Given the description of an element on the screen output the (x, y) to click on. 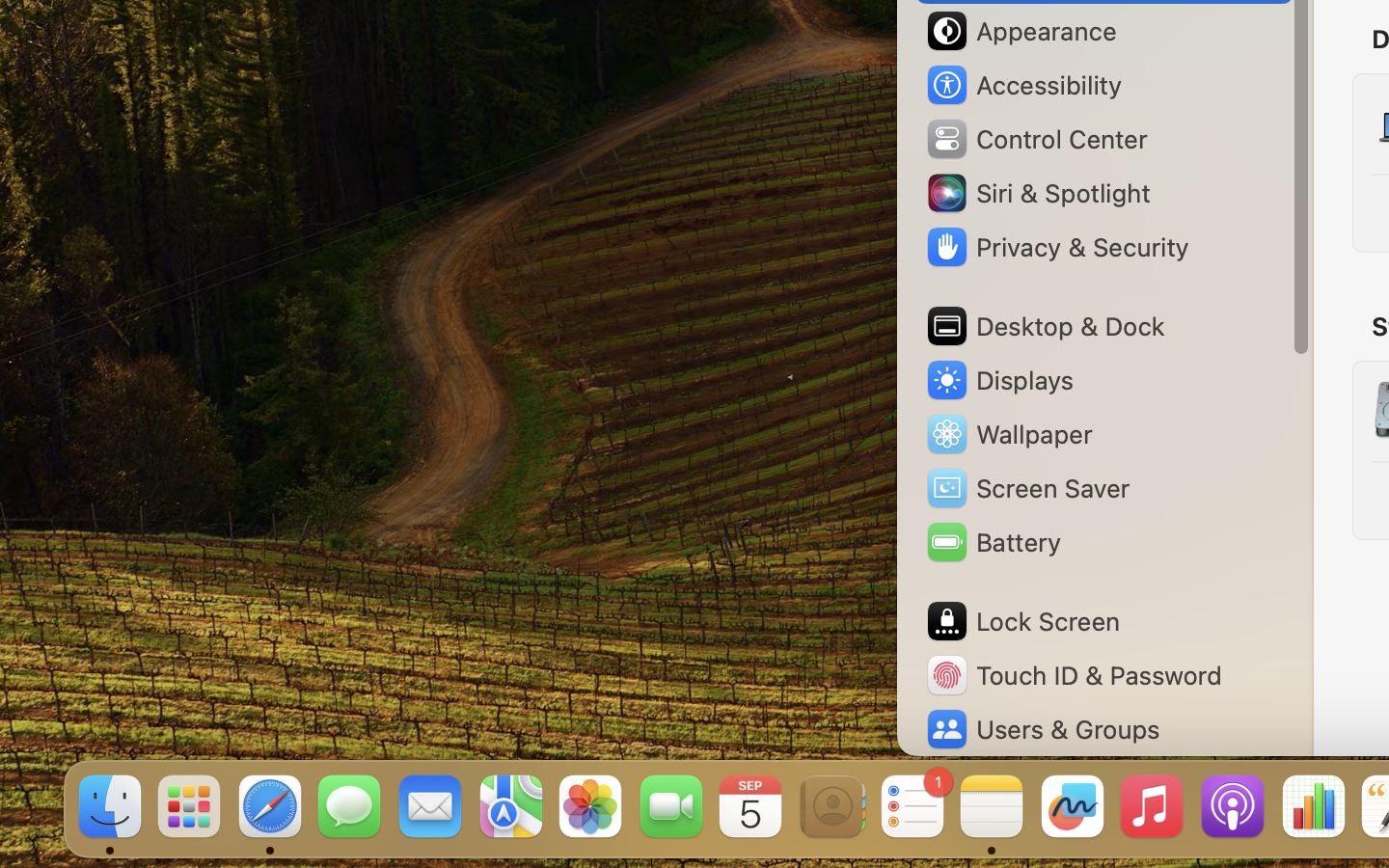
Accessibility Element type: AXStaticText (1023, 84)
Siri & Spotlight Element type: AXStaticText (1036, 192)
Users & Groups Element type: AXStaticText (1041, 728)
Screen Saver Element type: AXStaticText (1027, 487)
Touch ID & Password Element type: AXStaticText (1073, 674)
